Given the description of an element on the screen output the (x, y) to click on. 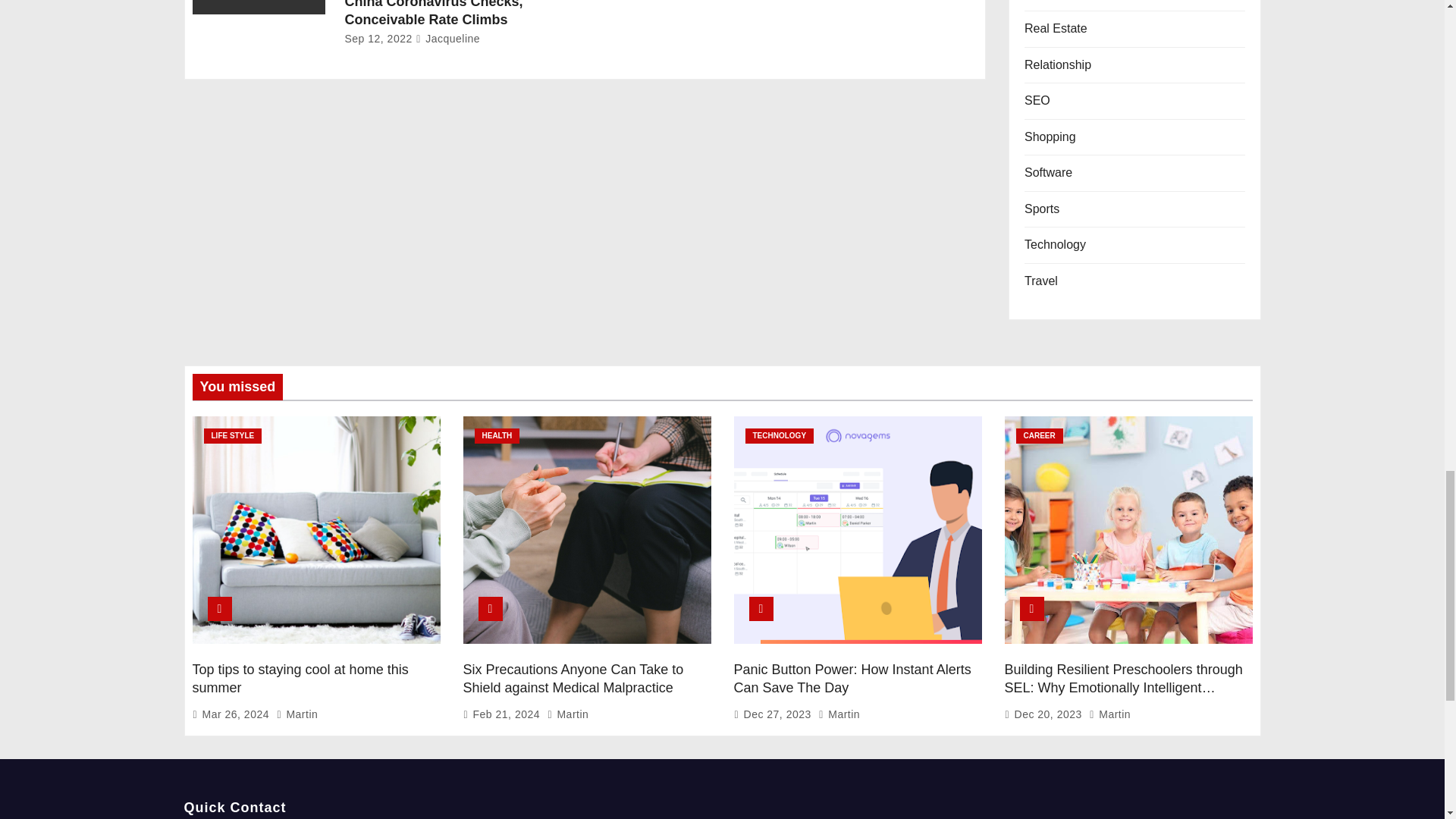
Permalink to: Top tips to staying cool at home this summer (300, 678)
